Given the description of an element on the screen output the (x, y) to click on. 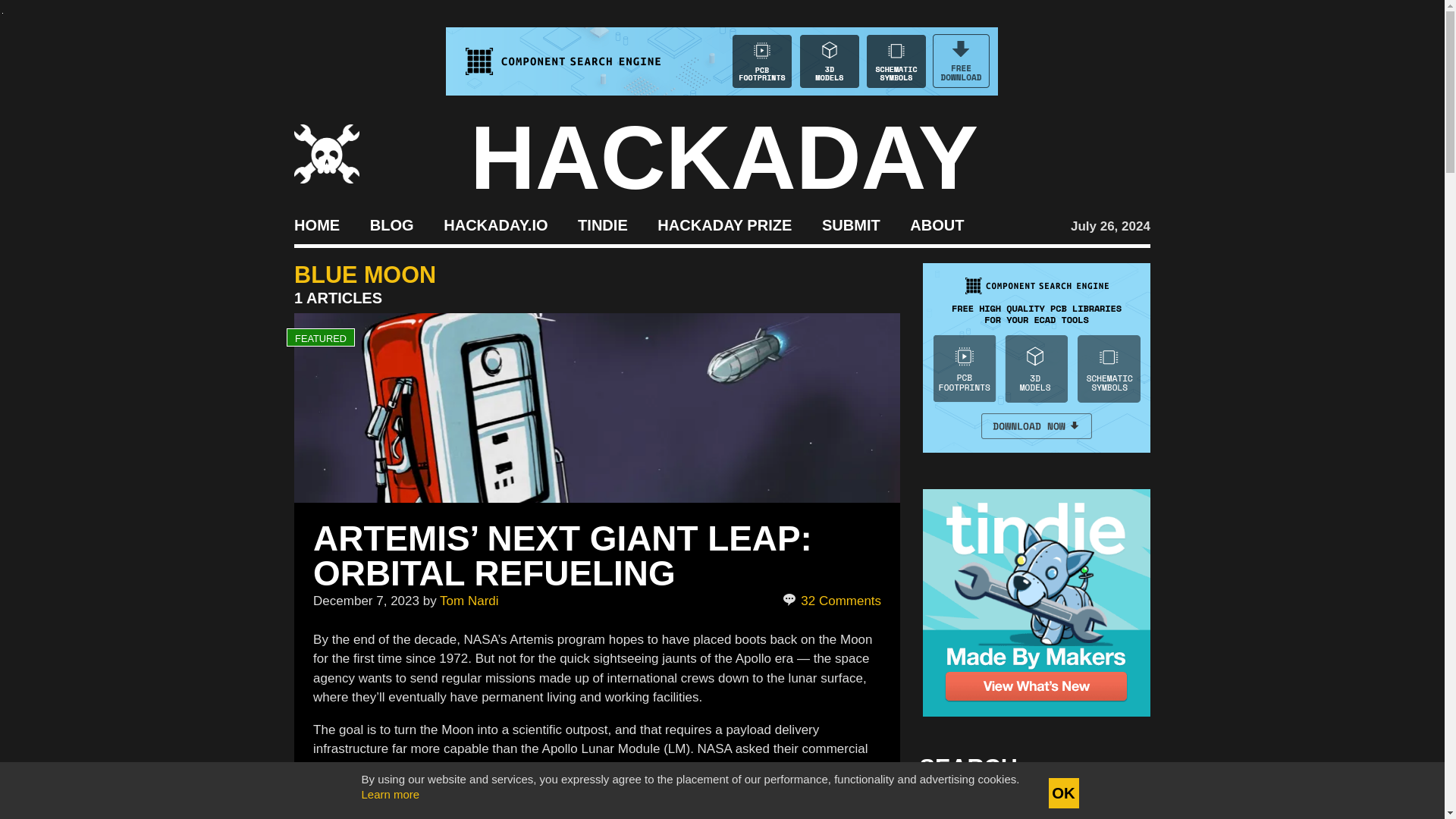
Search (1115, 808)
ABOUT (936, 224)
Tom Nardi (468, 599)
HACKADAY.IO (495, 224)
HOME (316, 224)
Search (1115, 808)
Build Something that Matters (725, 224)
HACKADAY PRIZE (725, 224)
Posts by Tom Nardi (468, 599)
32 Comments (832, 600)
TINDIE (602, 224)
SUBMIT (851, 224)
December 7, 2023 - 7:00 am (366, 599)
HACKADAY (724, 157)
BLOG (391, 224)
